Given the description of an element on the screen output the (x, y) to click on. 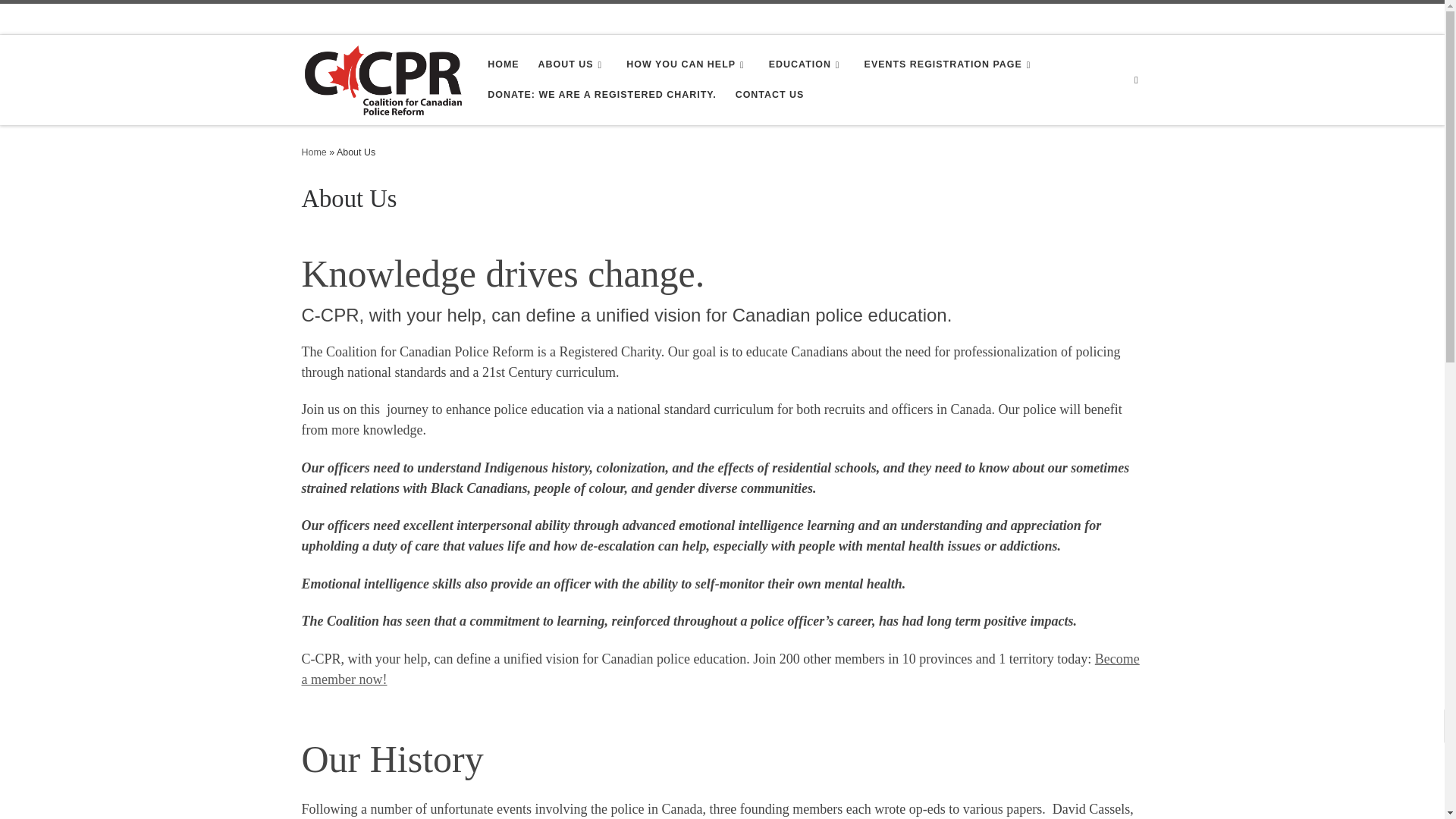
CONTACT US (769, 94)
Coalition for Canadian Police Reform (313, 152)
ABOUT US (571, 64)
EDUCATION (807, 64)
Skip to content (56, 19)
HOME (503, 64)
DONATE: WE ARE A REGISTERED CHARITY. (601, 94)
Search (1136, 79)
HOW YOU CAN HELP (687, 64)
EVENTS REGISTRATION PAGE (950, 64)
